Given the description of an element on the screen output the (x, y) to click on. 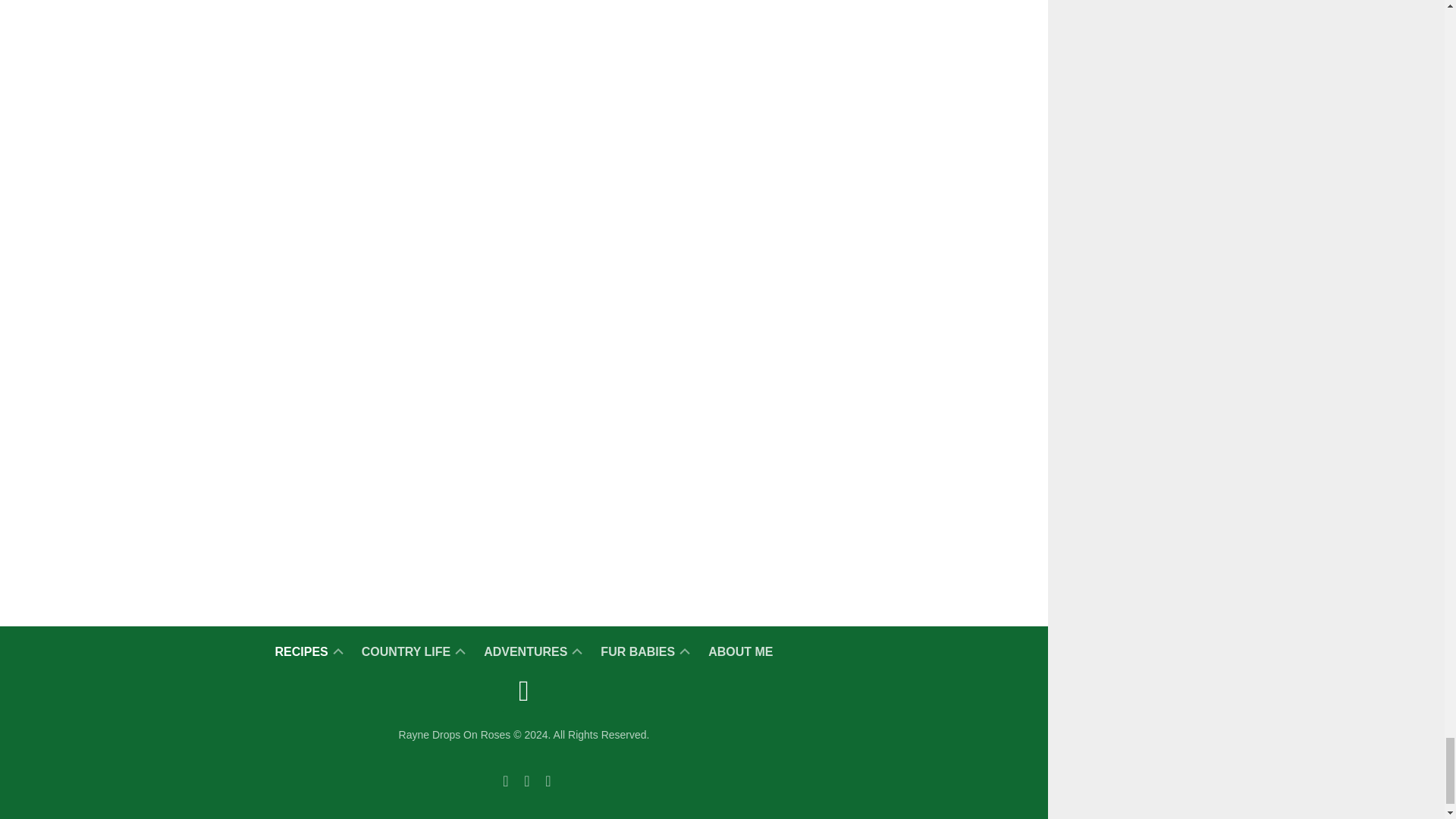
Twitter (526, 780)
Instagram (548, 780)
Pinterest (505, 780)
